Given the description of an element on the screen output the (x, y) to click on. 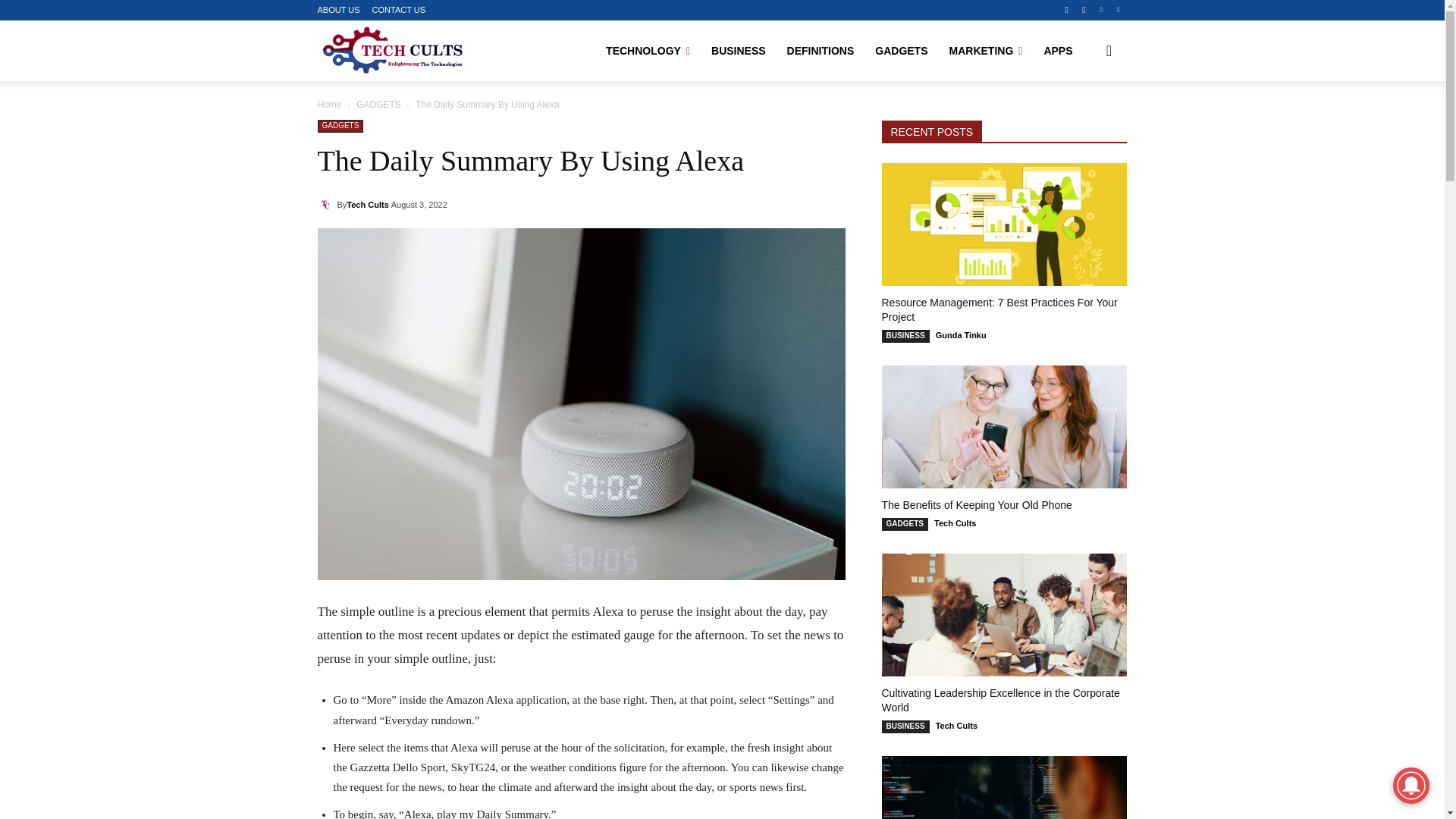
View all posts in GADGETS (378, 104)
ABOUT US (338, 9)
CONTACT US (399, 9)
